Given the description of an element on the screen output the (x, y) to click on. 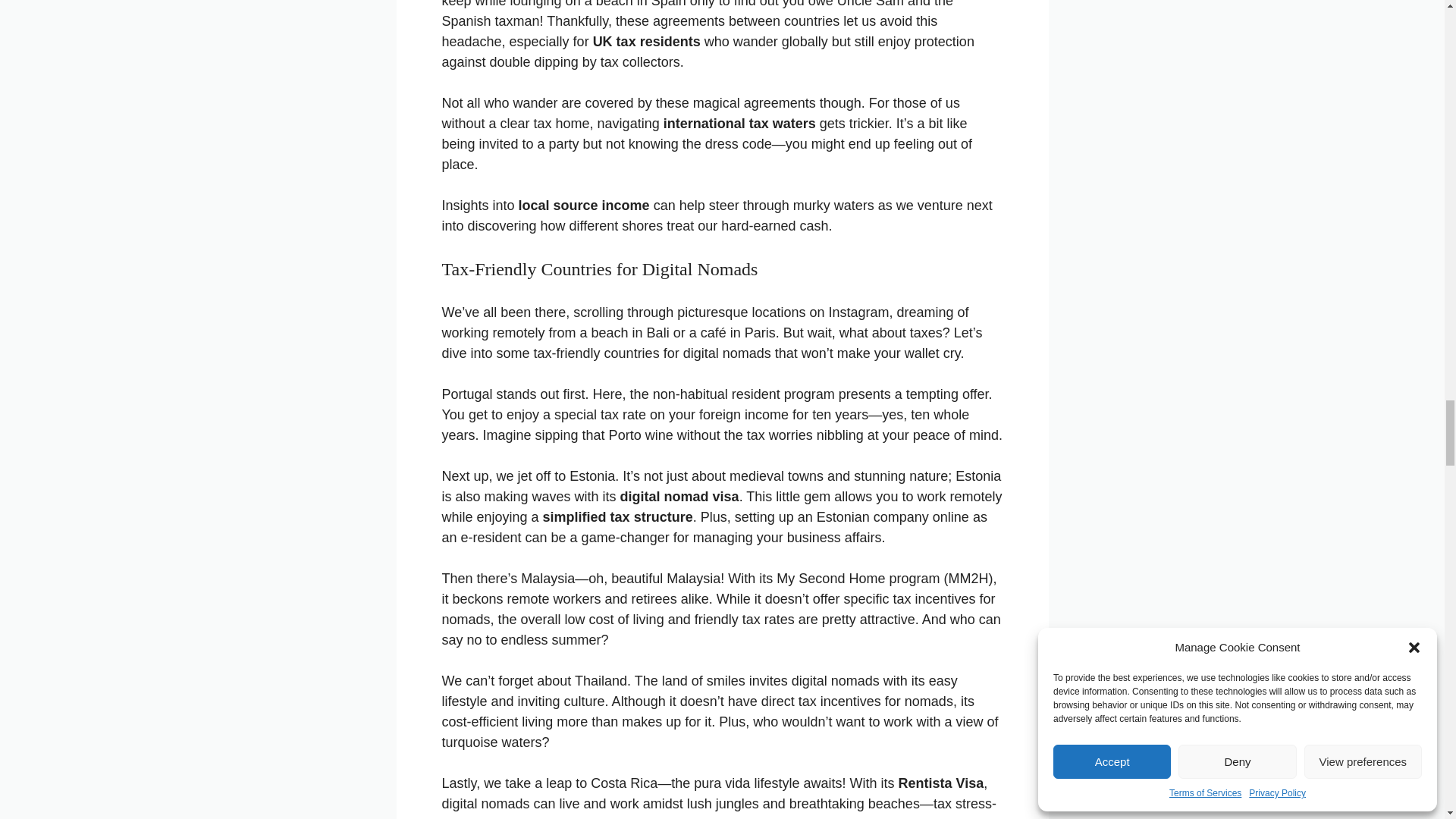
non-habitual resident program (743, 394)
